Given the description of an element on the screen output the (x, y) to click on. 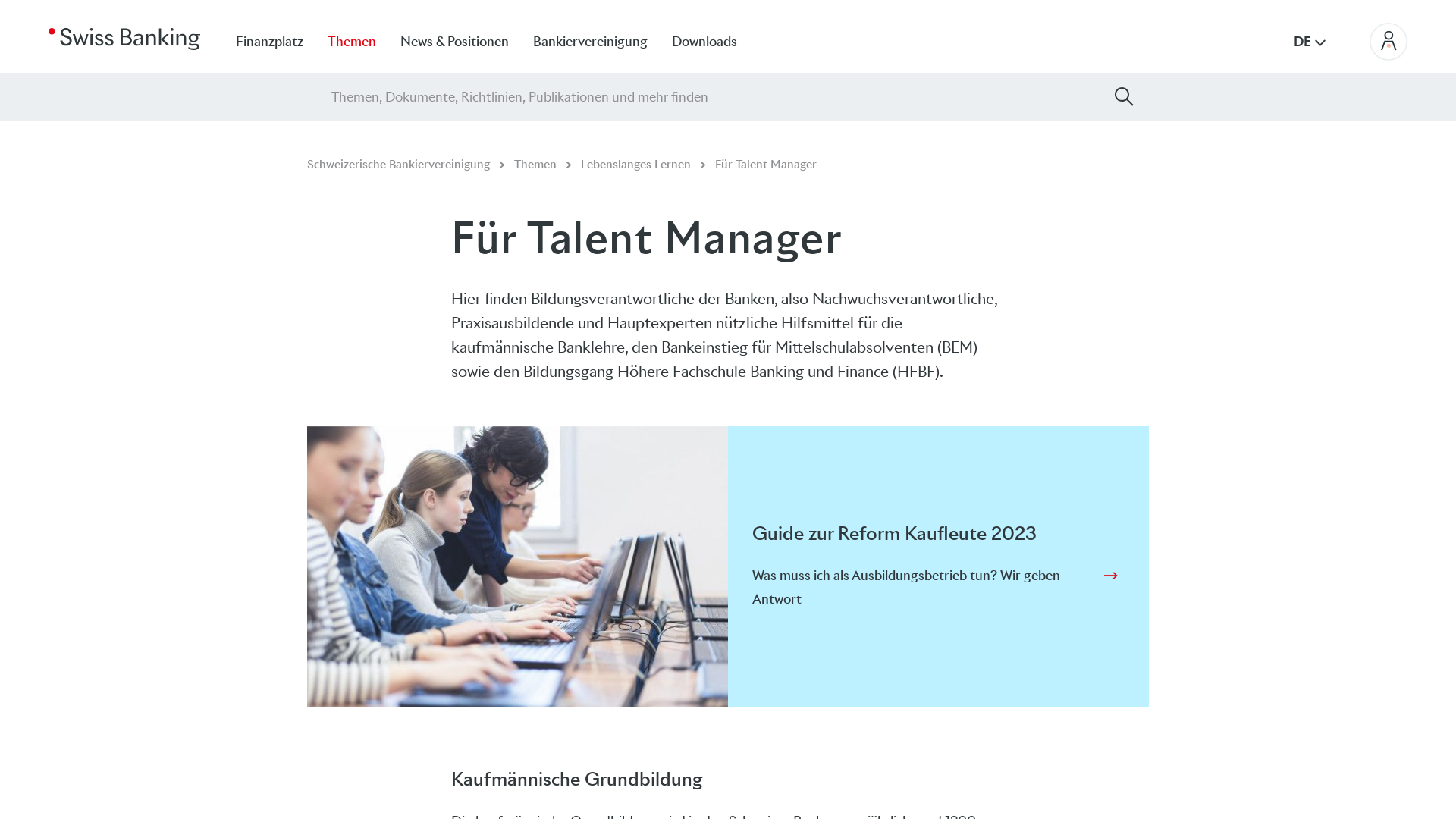
Downloads Element type: text (716, 41)
Lebenslanges Lernen Element type: text (634, 163)
Schweizerische Bankiervereinigung Element type: text (397, 163)
Lernen digital Element type: hover (517, 566)
Zur Startseite  Element type: hover (124, 37)
Themen Element type: text (534, 163)
Login Element type: hover (1388, 41)
